Given the description of an element on the screen output the (x, y) to click on. 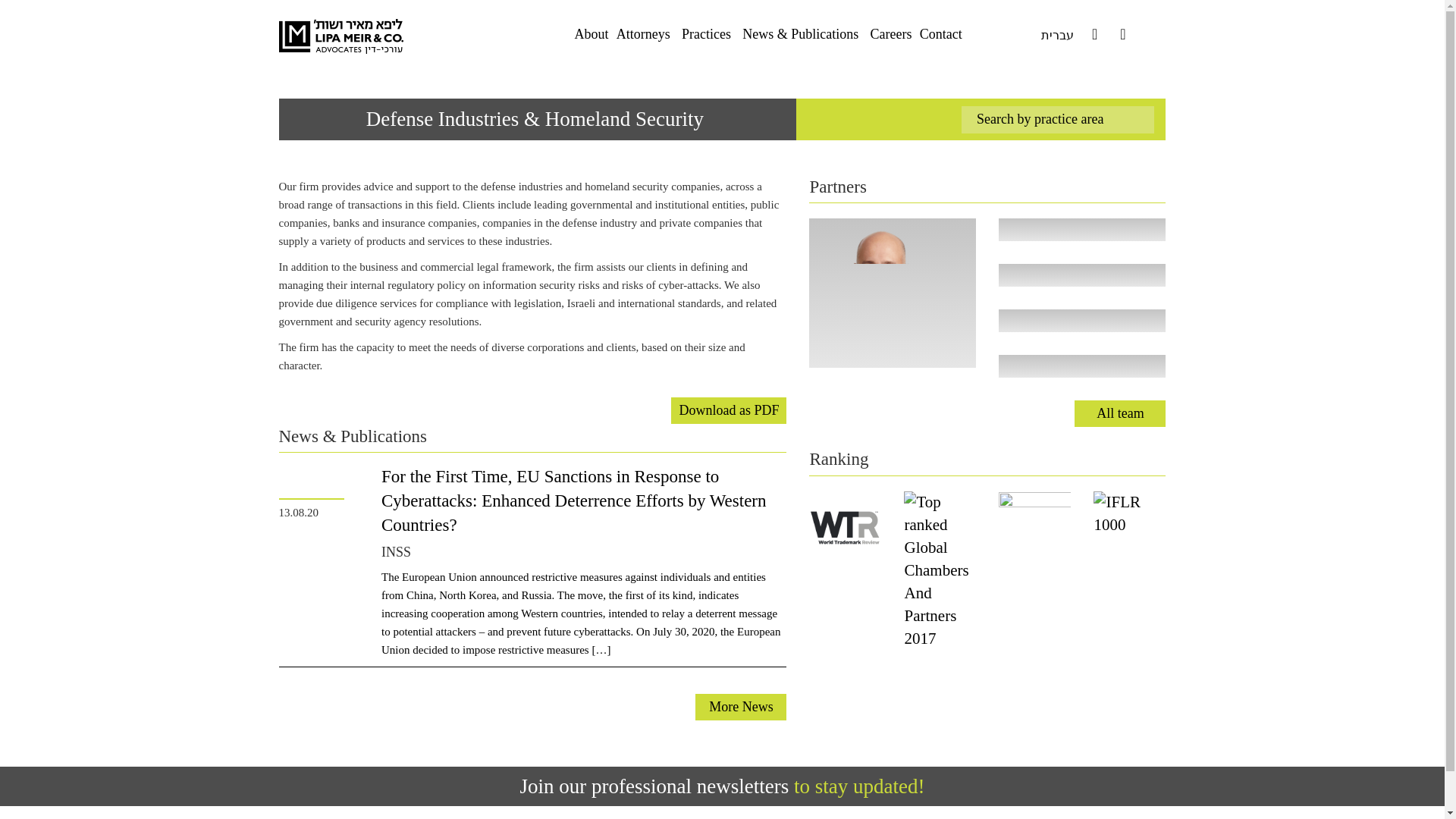
Careers (890, 33)
More News (740, 706)
Download as PDF (728, 410)
Attorneys (642, 33)
All team (1120, 413)
Practices (705, 33)
About (590, 33)
Contact (941, 33)
